Given the description of an element on the screen output the (x, y) to click on. 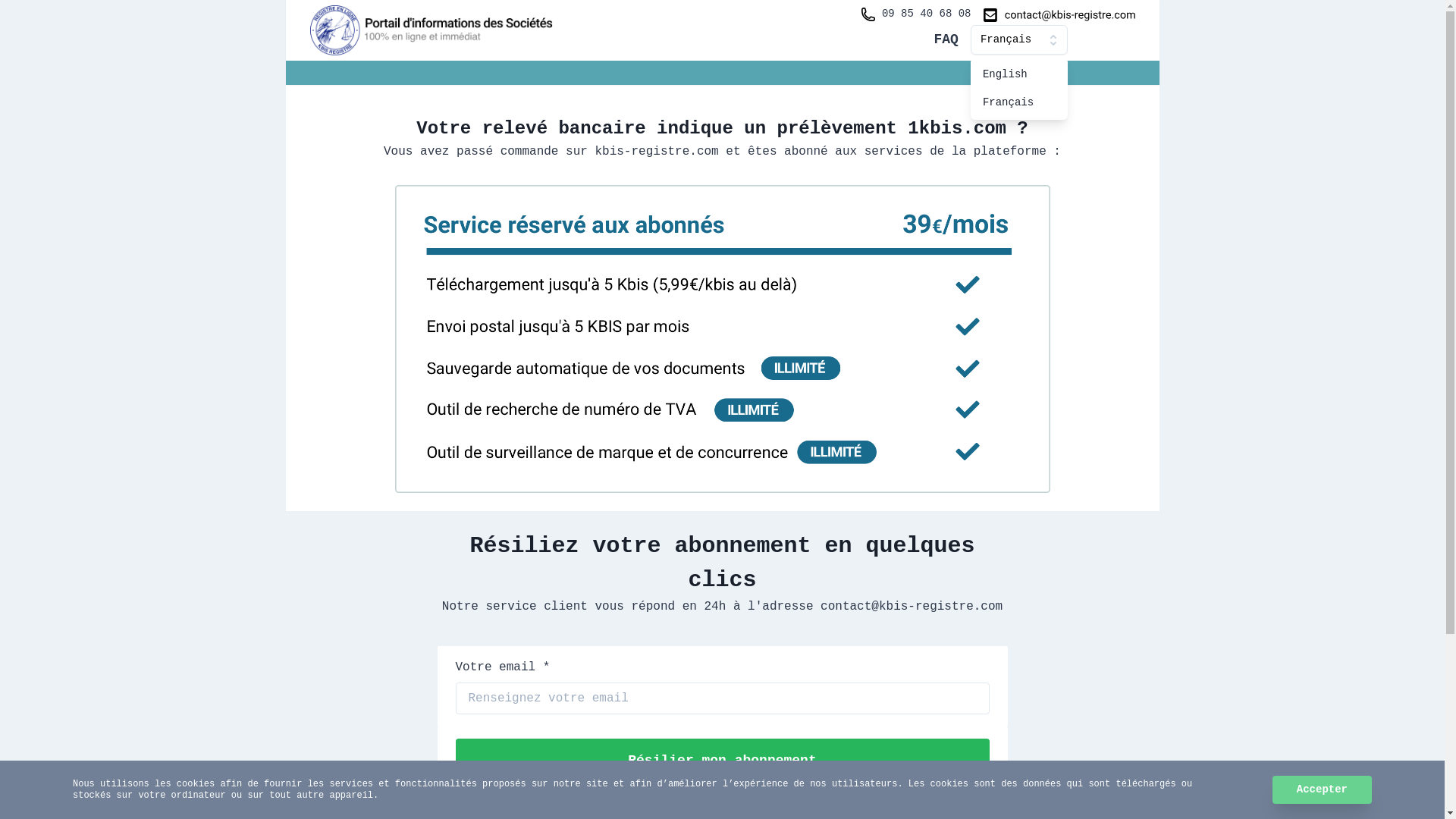
Accepter Element type: text (1321, 789)
English Element type: text (1018, 74)
FAQ Element type: text (945, 39)
